Given the description of an element on the screen output the (x, y) to click on. 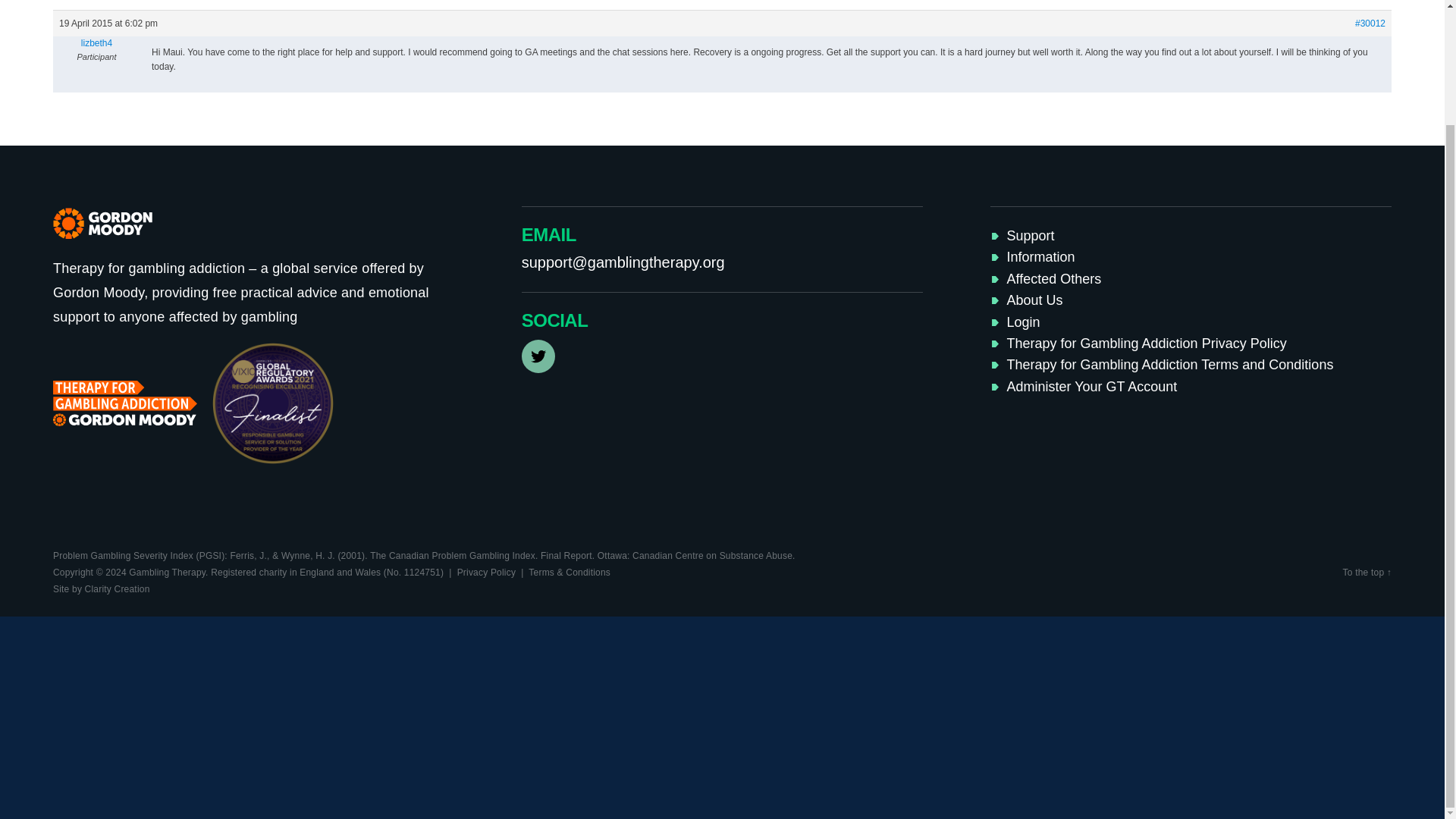
Visit the Clarity Creation website (100, 588)
View lizbeth4's profile (95, 42)
